Given the description of an element on the screen output the (x, y) to click on. 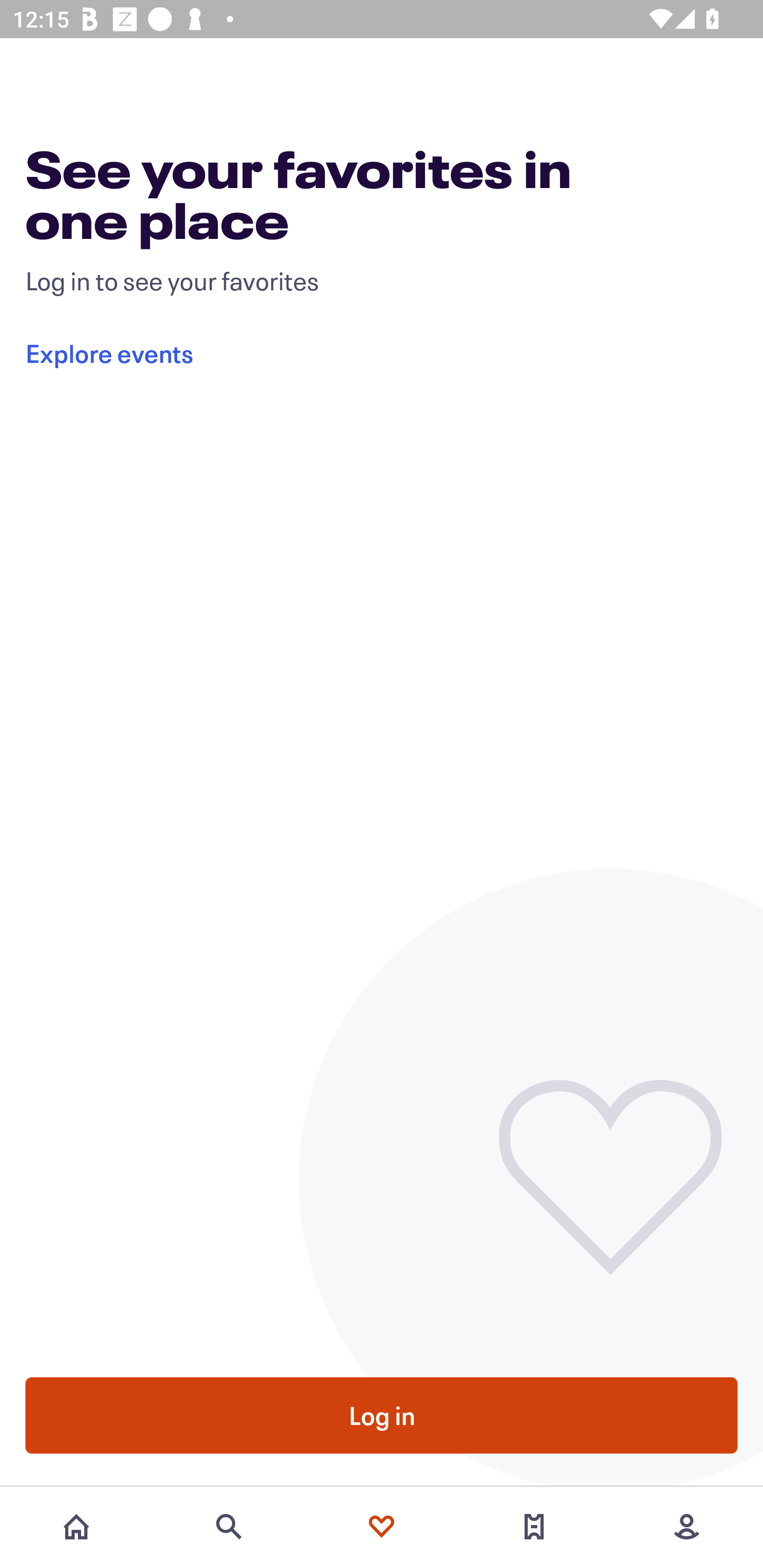
Explore events (394, 352)
Log in (381, 1414)
Home (76, 1526)
Search events (228, 1526)
Favorites (381, 1526)
Tickets (533, 1526)
More (686, 1526)
